Given the description of an element on the screen output the (x, y) to click on. 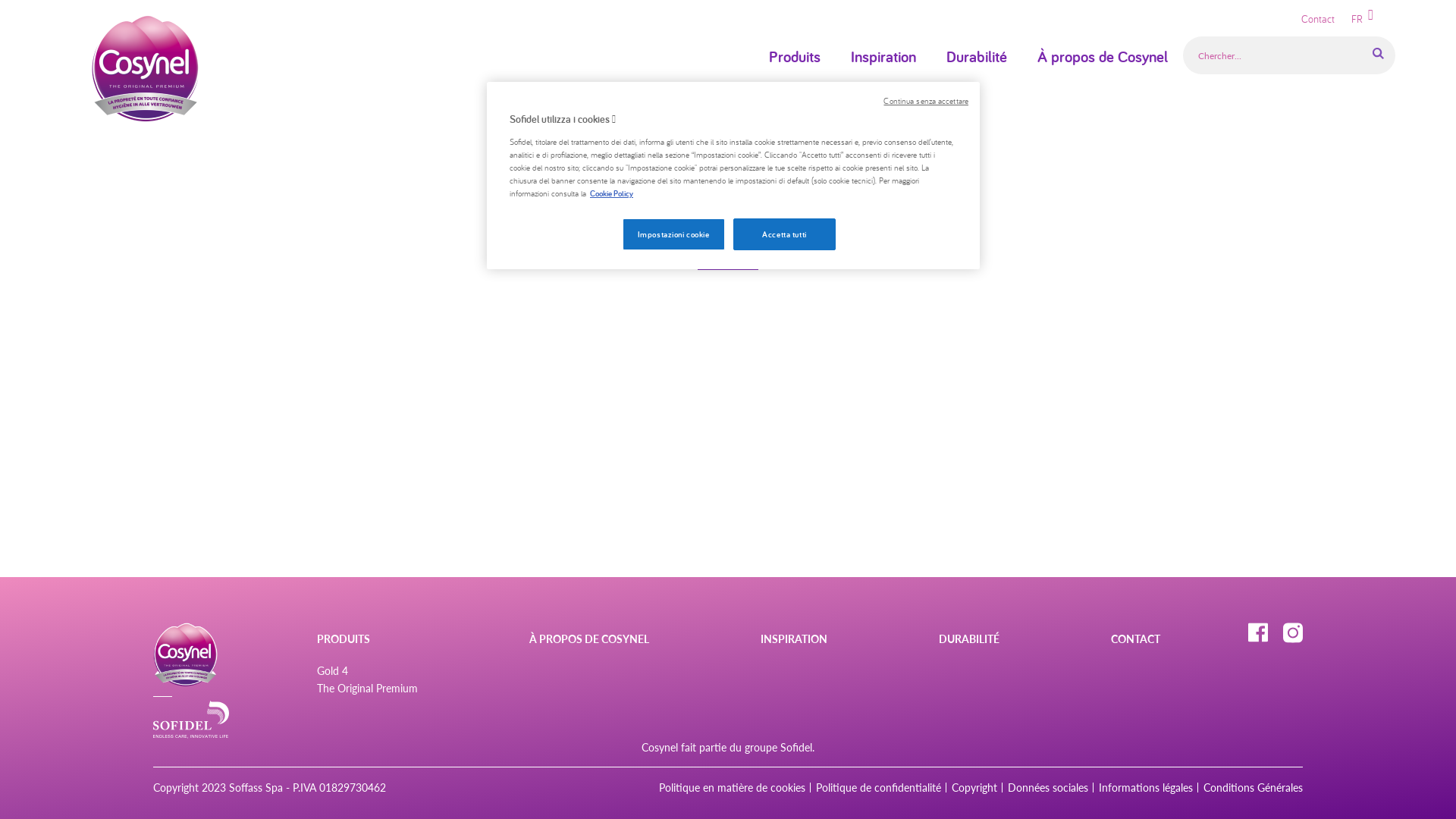
Inspiration Element type: text (883, 56)
Copyright Element type: text (974, 787)
Continua senza accettare Element type: text (925, 101)
CONTACT Element type: text (1135, 638)
Accetta tutti Element type: text (784, 234)
Cookie Policy Element type: text (611, 192)
FR Element type: text (1369, 18)
The Original Premium Element type: text (366, 687)
INSPIRATION Element type: text (793, 638)
PRODUITS Element type: text (366, 638)
Back to homepage Element type: text (727, 261)
Contact Element type: text (1317, 19)
Gold 4 Element type: text (366, 670)
Produits Element type: text (794, 56)
Impostazioni cookie Element type: text (673, 234)
